Given the description of an element on the screen output the (x, y) to click on. 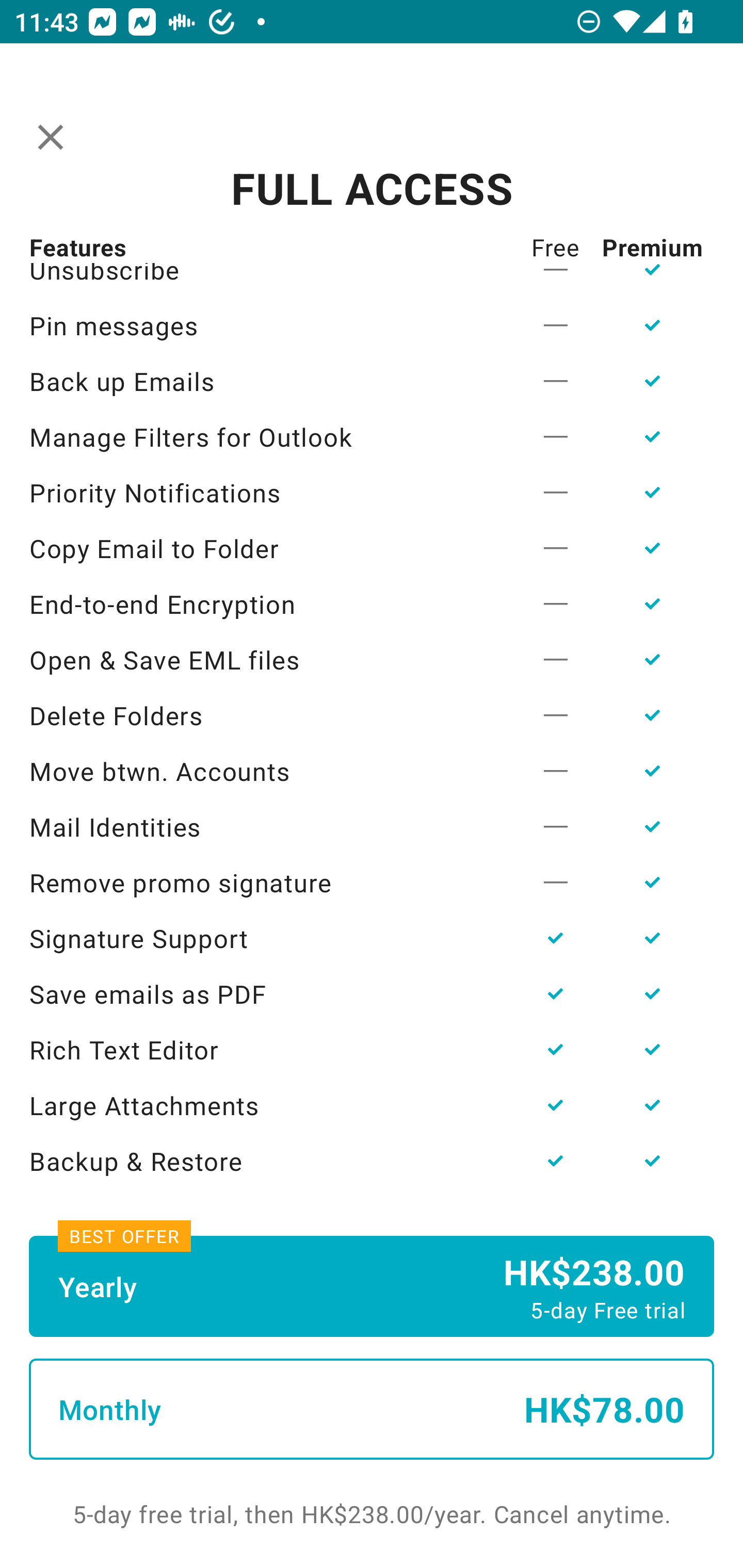
Yearly HK$238.00 5-day Free trial (371, 1286)
Monthly HK$78.00 (371, 1408)
